Given the description of an element on the screen output the (x, y) to click on. 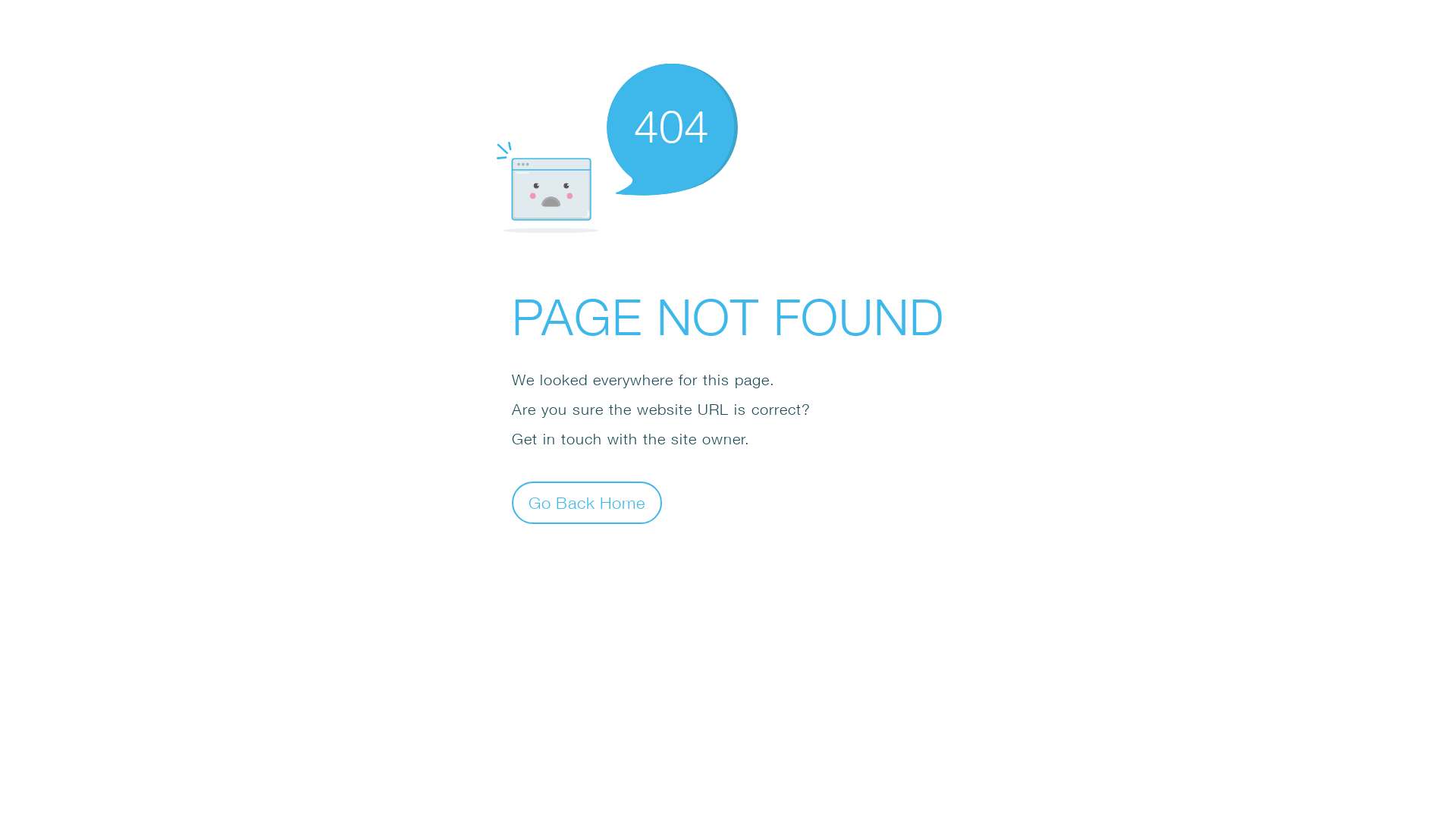
Go Back Home Element type: text (586, 502)
